Given the description of an element on the screen output the (x, y) to click on. 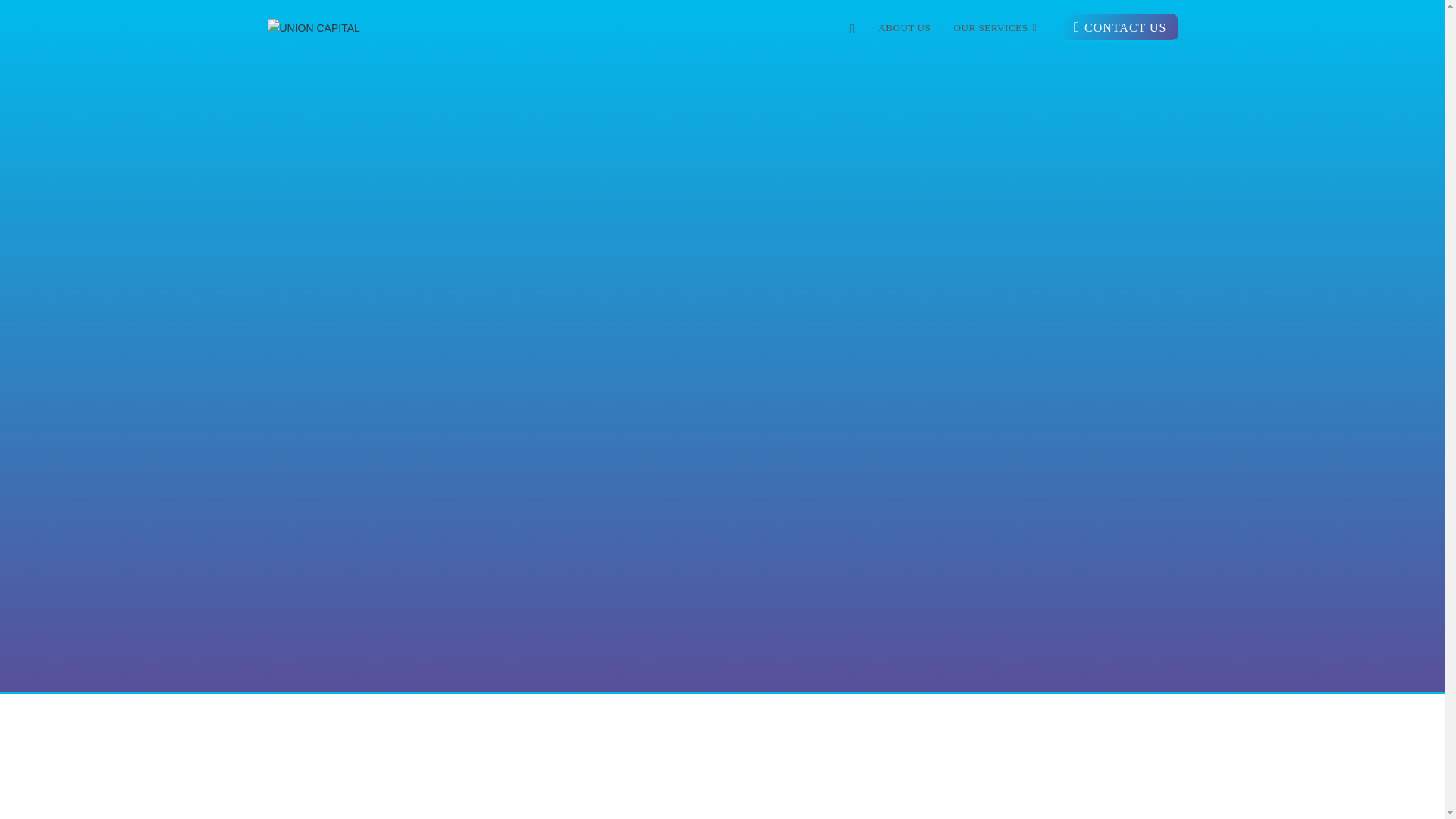
ABOUT US (904, 28)
OUR SERVICES (996, 28)
CONTACT US (1119, 28)
